Given the description of an element on the screen output the (x, y) to click on. 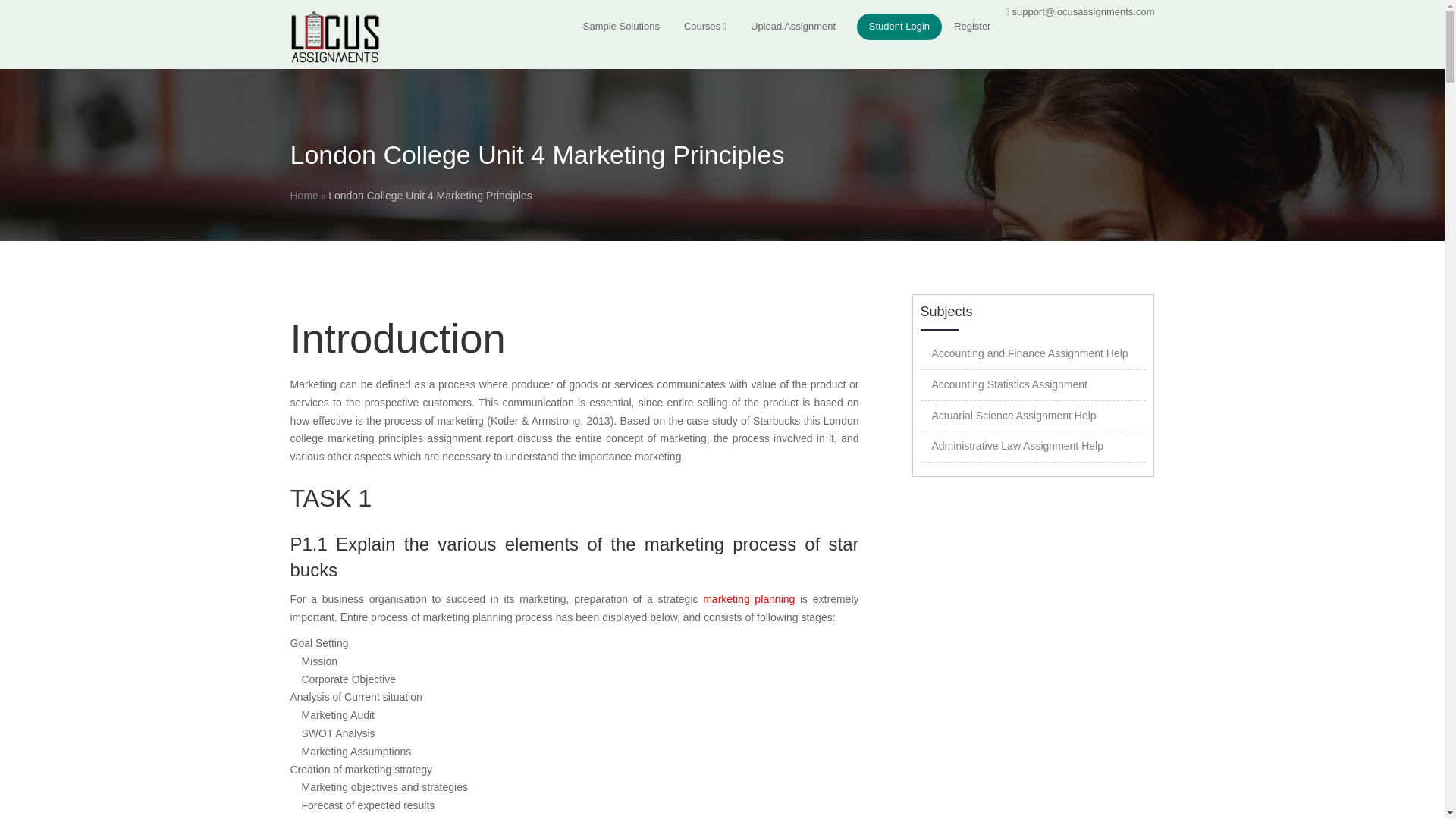
Register (972, 26)
Accounting Statistics Assignment (1008, 384)
marketing planning (748, 598)
Upload Assignment (792, 26)
Actuarial Science Assignment Help (1013, 415)
Accounting and Finance Assignment Help (1028, 353)
Student Login (899, 26)
Home (303, 195)
Courses (704, 26)
Sample Solutions (620, 26)
